Given the description of an element on the screen output the (x, y) to click on. 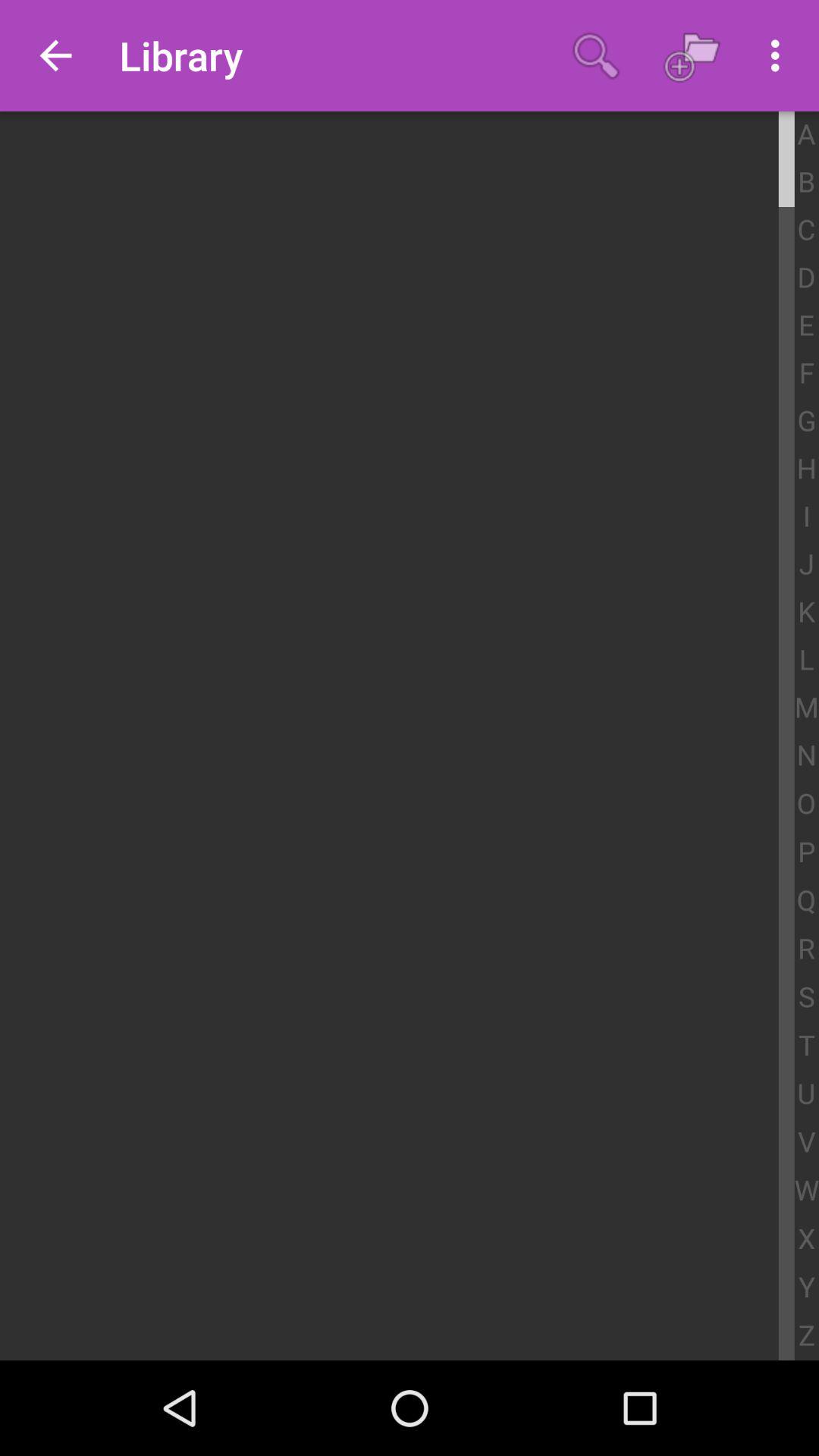
open item to the left of the library (55, 55)
